Given the description of an element on the screen output the (x, y) to click on. 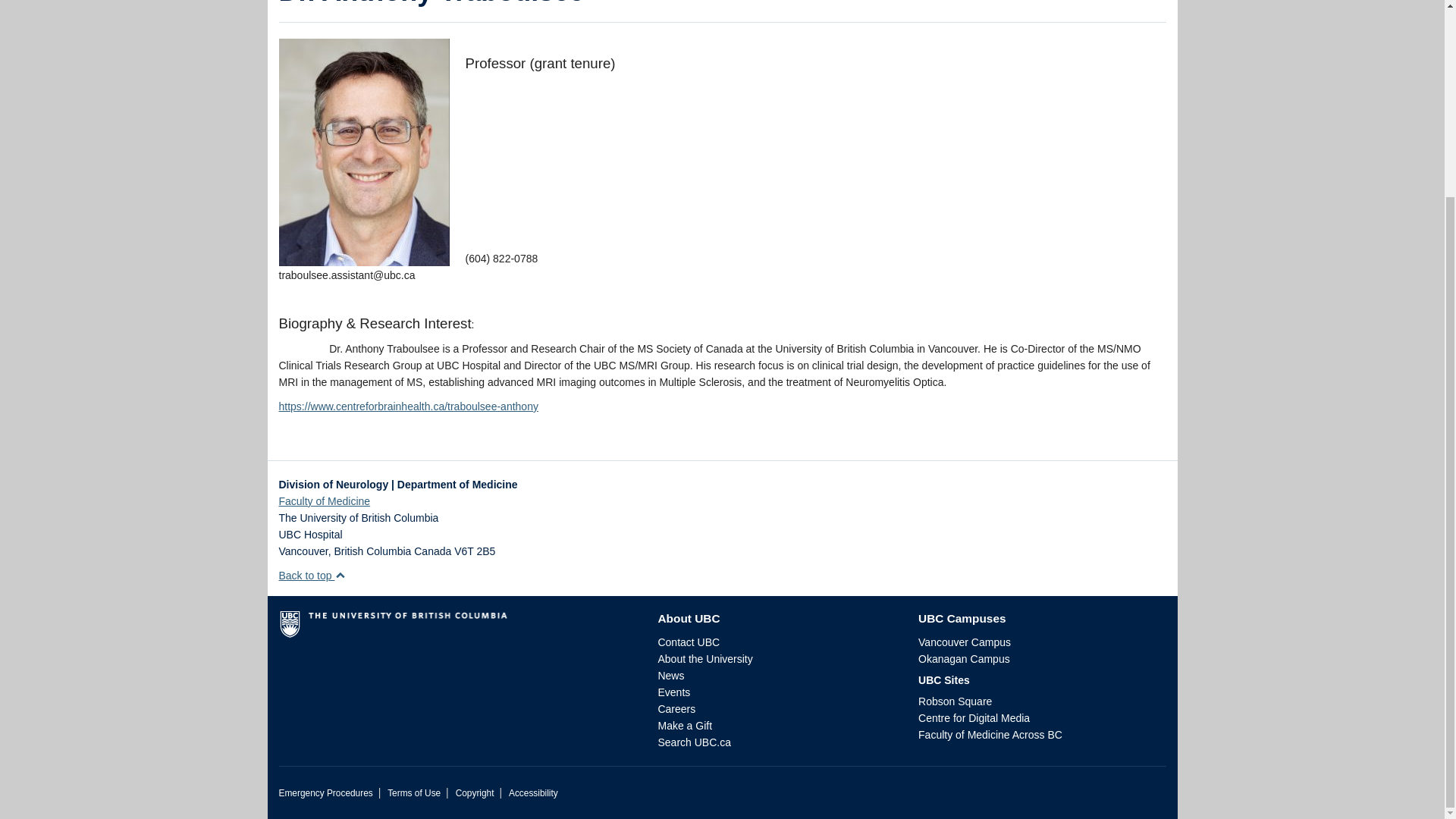
UBC Copyright (475, 792)
Terms of Use (414, 792)
Accessibility (532, 792)
Emergency Procedures (325, 792)
Back to top (312, 575)
